Given the description of an element on the screen output the (x, y) to click on. 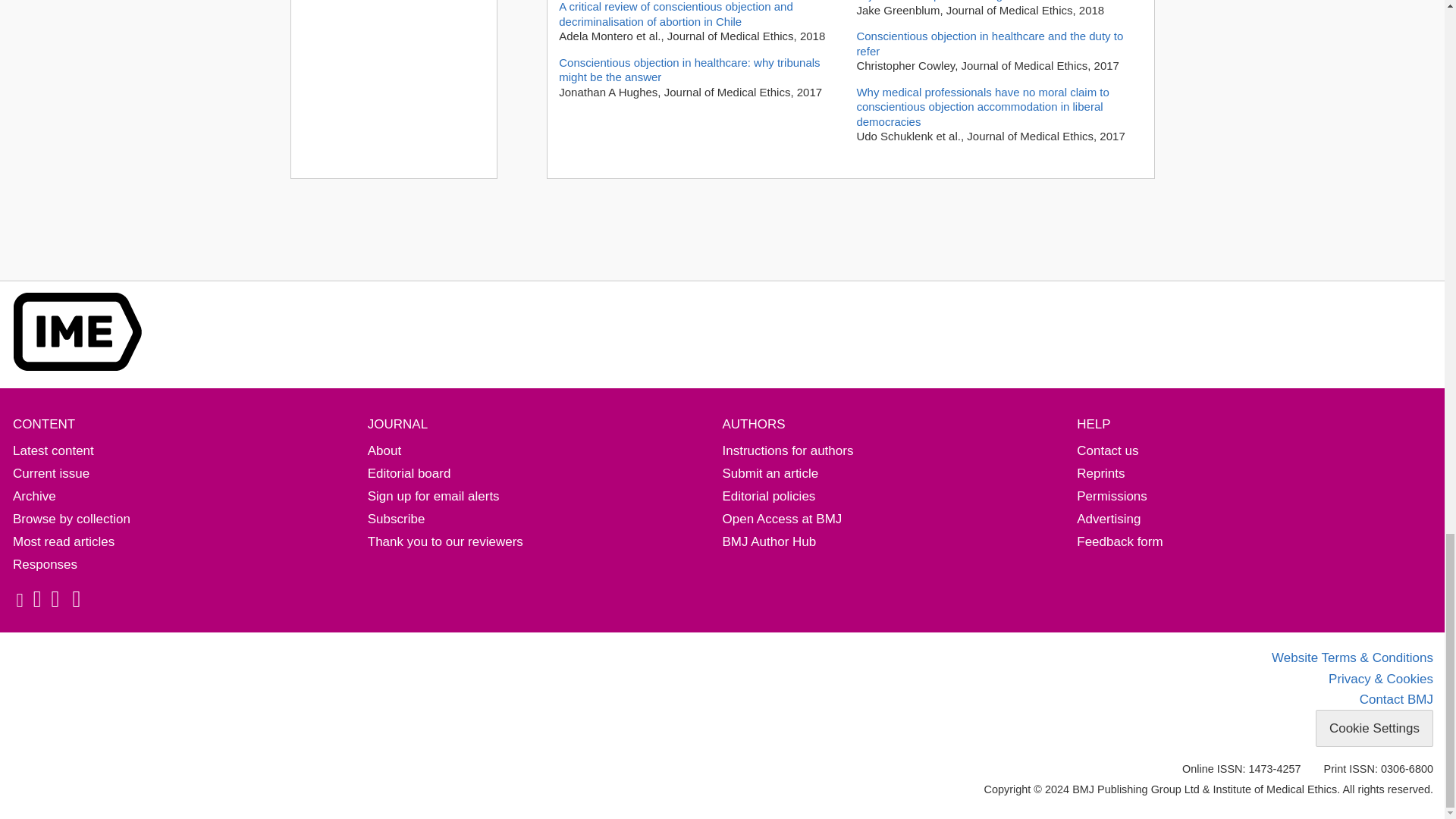
careers widget (393, 89)
